Given the description of an element on the screen output the (x, y) to click on. 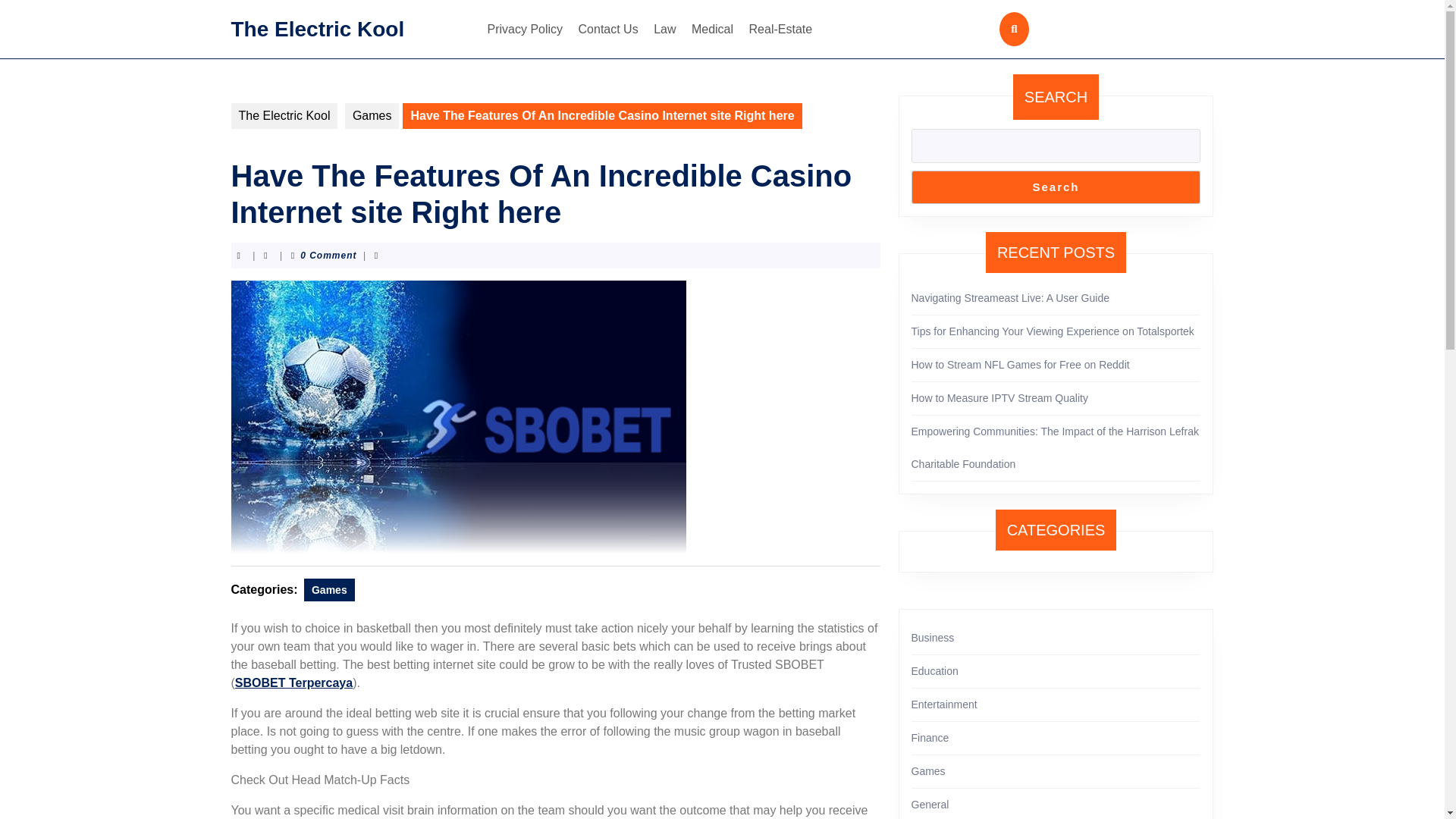
Games (371, 115)
Navigating Streameast Live: A User Guide (1010, 297)
The Electric Kool (283, 115)
Business (933, 637)
Tips for Enhancing Your Viewing Experience on Totalsportek (1052, 331)
Search (1056, 186)
How to Stream NFL Games for Free on Reddit (1020, 364)
Real-Estate (780, 28)
Privacy Policy (524, 28)
Medical (712, 28)
SBOBET Terpercaya (293, 682)
Contact Us (608, 28)
How to Measure IPTV Stream Quality (999, 398)
Education (934, 671)
